Given the description of an element on the screen output the (x, y) to click on. 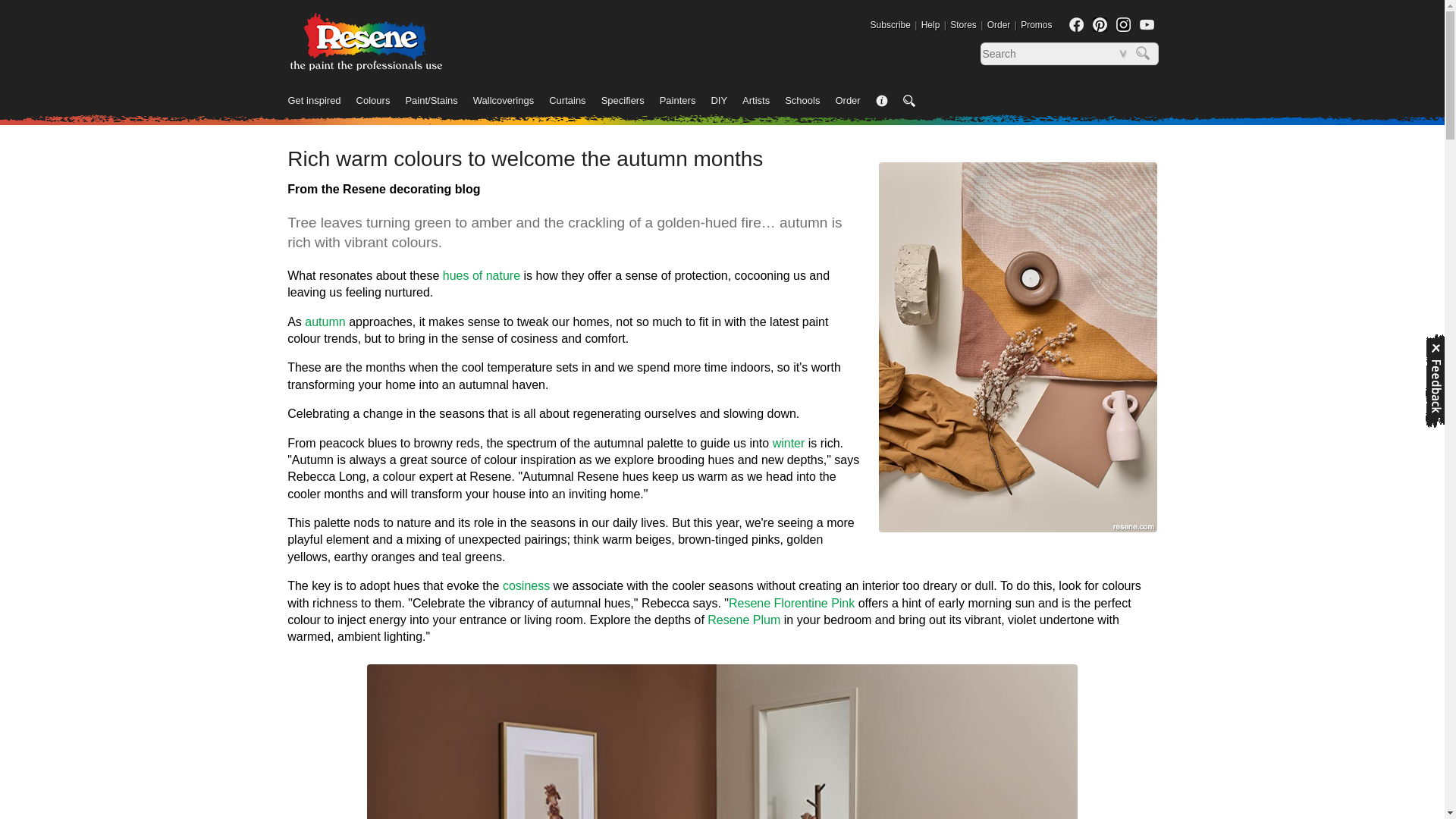
Search (1145, 54)
Follow us on Facebook (1075, 24)
Promos (1035, 24)
Winter 2023 colour trends (789, 442)
Follow us on Pinterest (1099, 24)
Stores (963, 24)
How to create a cosy home interior (526, 585)
Follow us on Instagram (1123, 24)
Follow us on YouTube (1145, 24)
Get inspired (322, 102)
Help (931, 24)
Subscribe (890, 24)
Colours (381, 102)
Autumn 2023 colour trends (324, 321)
Order (998, 24)
